Given the description of an element on the screen output the (x, y) to click on. 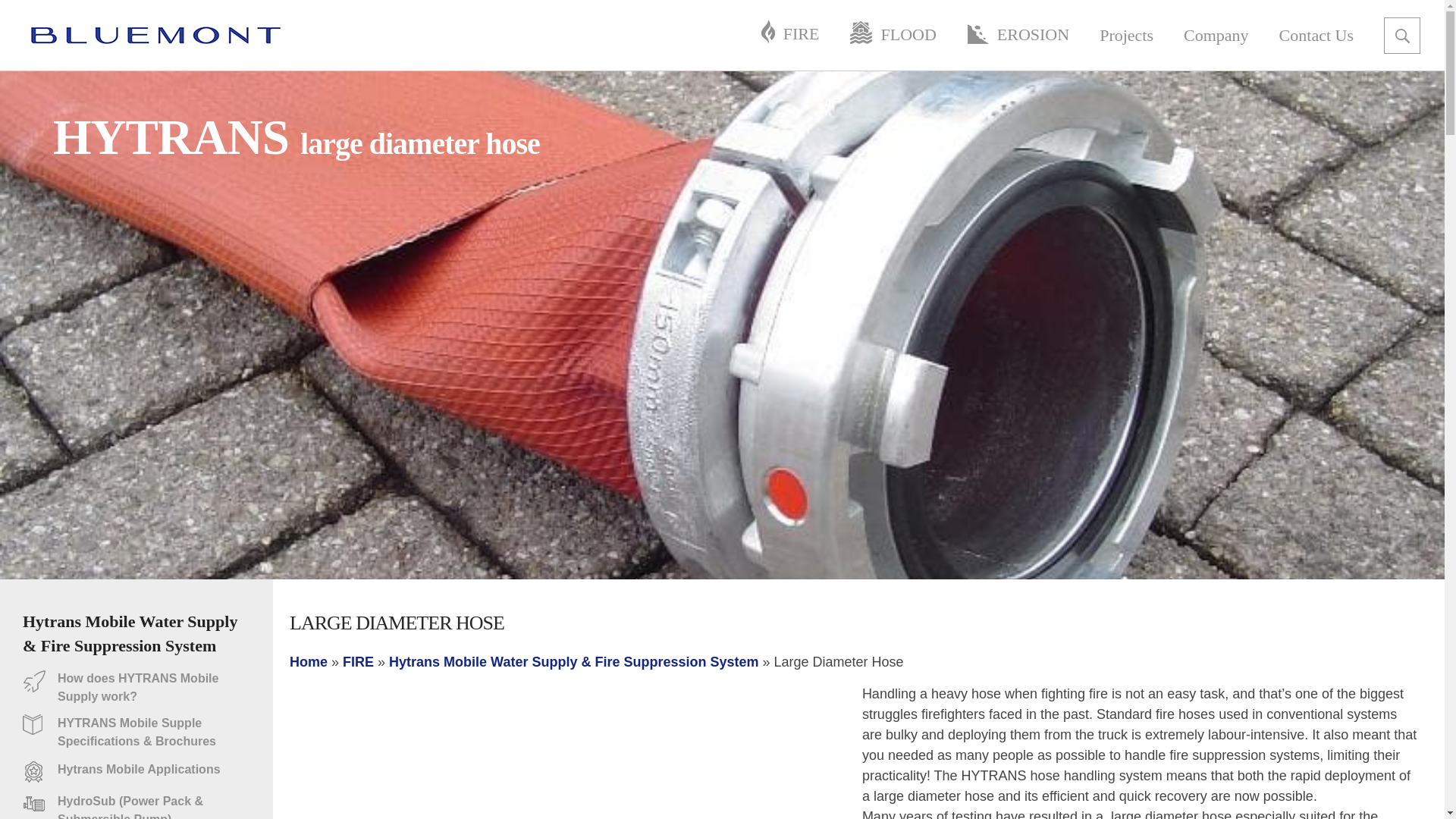
YouTube video player (568, 751)
Contact Us (1316, 35)
EROSION (1017, 35)
Home (308, 661)
FIRE (358, 661)
Company (1216, 35)
FLOOD (892, 34)
logo (155, 35)
